Given the description of an element on the screen output the (x, y) to click on. 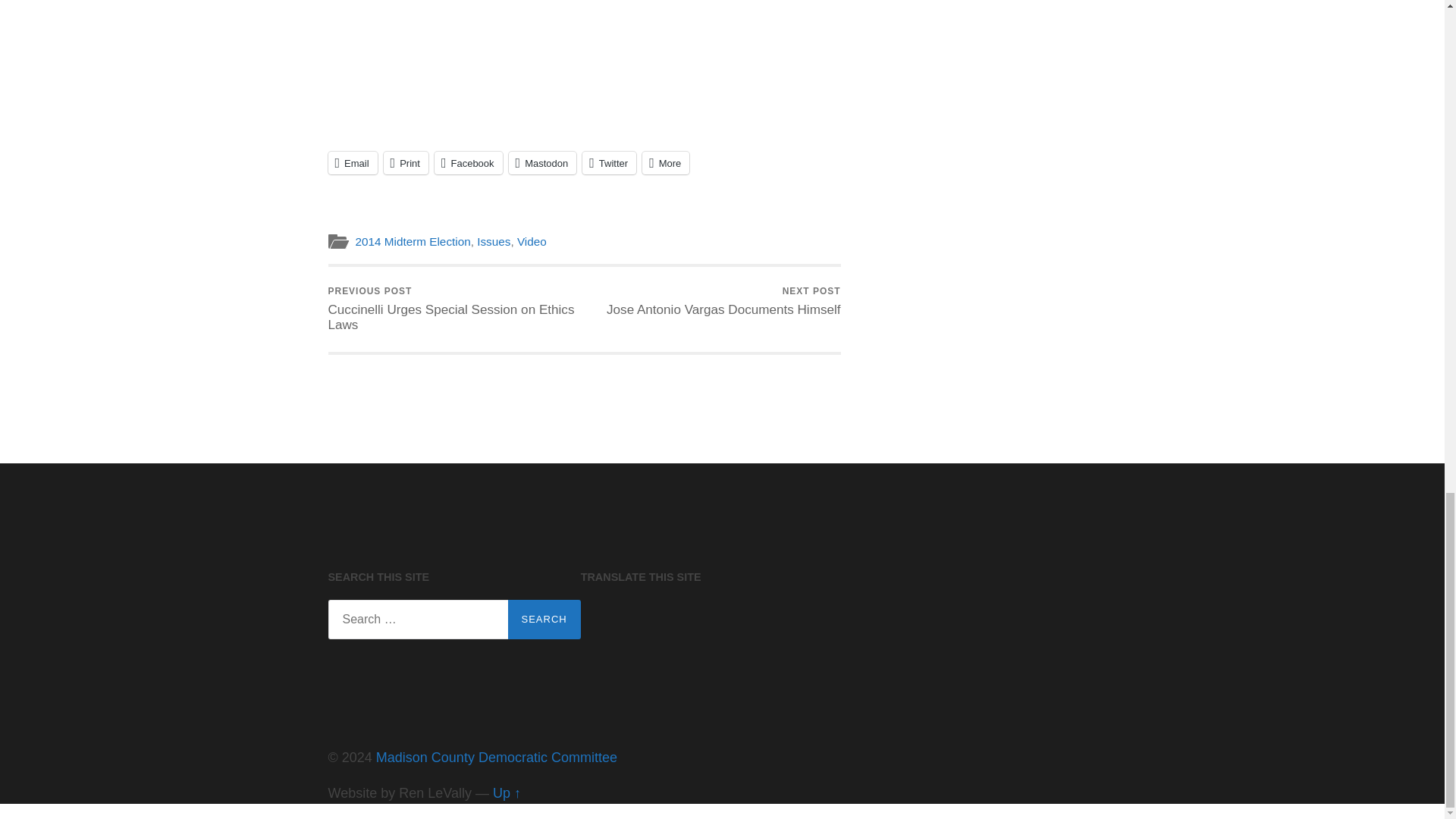
Click to share on Mastodon (542, 162)
Mastodon (542, 162)
Email (352, 162)
Click to share on Twitter (609, 162)
Facebook (467, 162)
Click to share on Facebook (467, 162)
Click to email a link to a friend (352, 162)
Print (406, 162)
Search (544, 619)
Click to print (406, 162)
Search (544, 619)
To the top (507, 792)
